Given the description of an element on the screen output the (x, y) to click on. 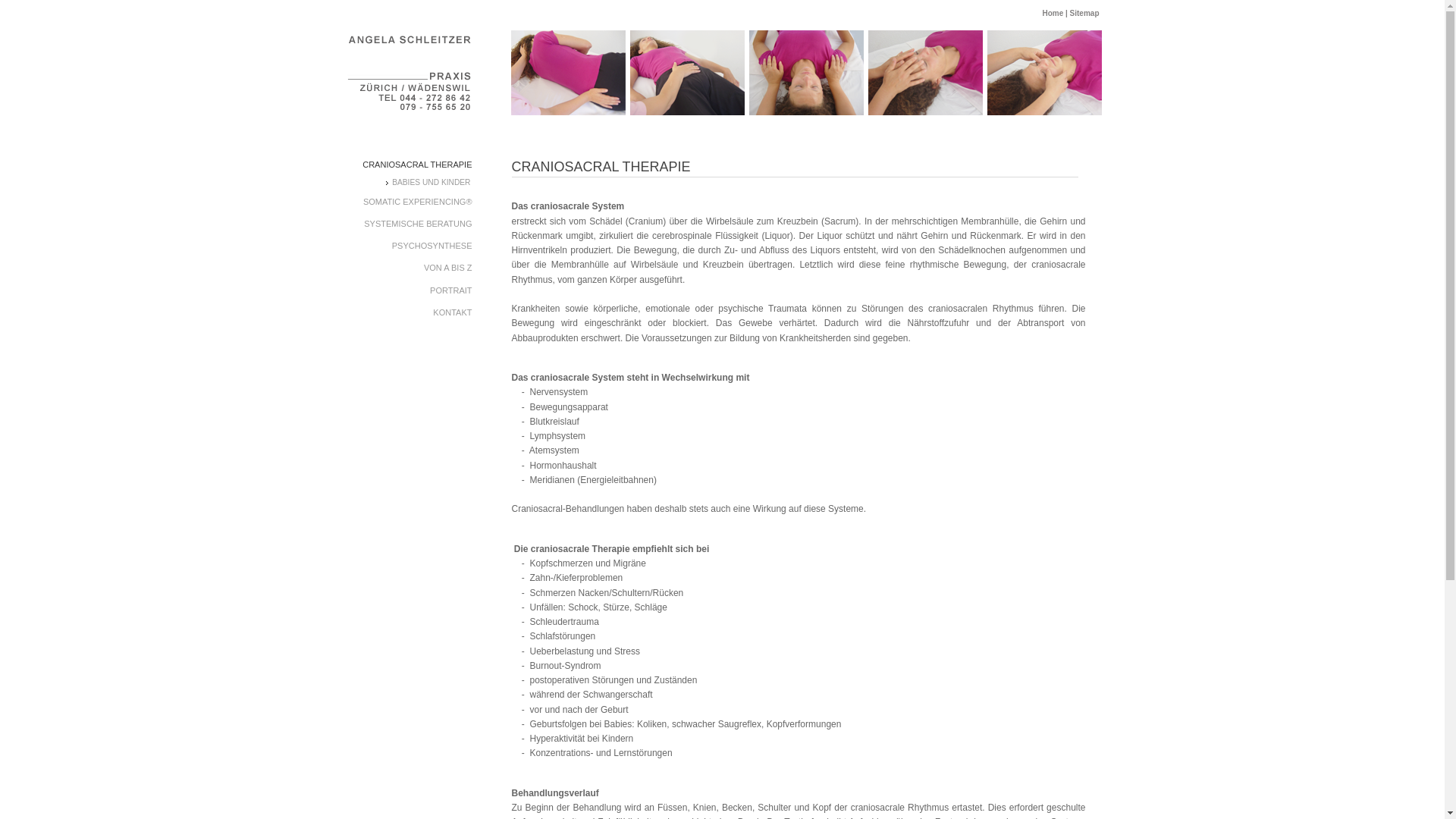
PSYCHOSYNTHESE Element type: text (409, 245)
SYSTEMISCHE BERATUNG Element type: text (409, 223)
Home Element type: text (1052, 13)
CRANIOSACRAL THERAPIE Element type: text (409, 164)
Sitemap Element type: text (1084, 13)
VON A BIS Z Element type: text (409, 267)
KONTAKT Element type: text (409, 312)
BABIES UND KINDER Element type: text (426, 182)
PORTRAIT Element type: text (409, 290)
